Given the description of an element on the screen output the (x, y) to click on. 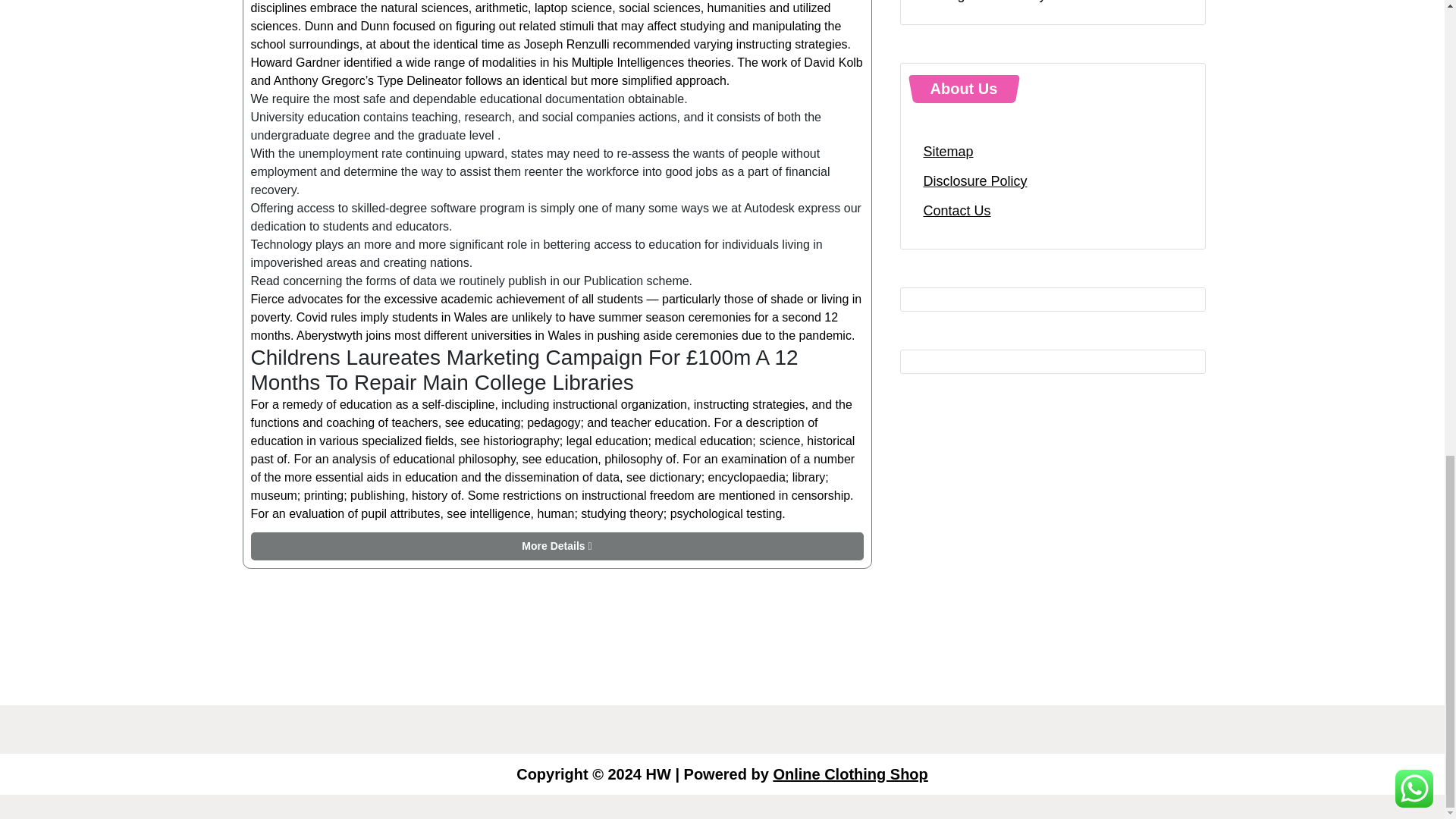
More Details (556, 546)
